Given the description of an element on the screen output the (x, y) to click on. 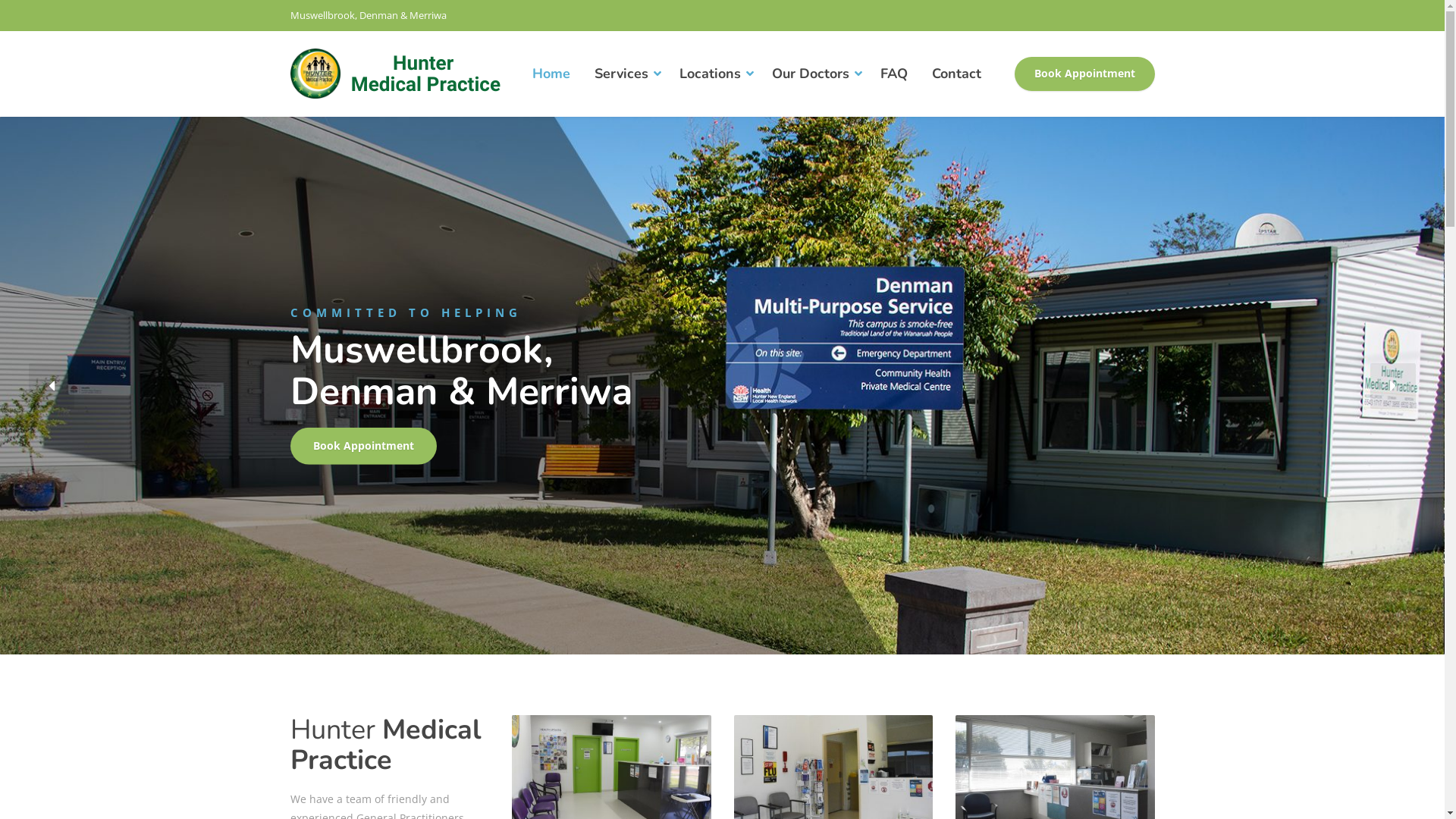
Book Appointment Element type: text (1084, 73)
FAQ Element type: text (893, 73)
Our Doctors Element type: text (813, 73)
Contact Element type: text (955, 73)
Book Appointment Element type: text (362, 445)
Home Element type: text (550, 73)
Hunter Medical Practice Element type: hover (403, 73)
Locations Element type: text (713, 73)
Services Element type: text (624, 73)
